Given the description of an element on the screen output the (x, y) to click on. 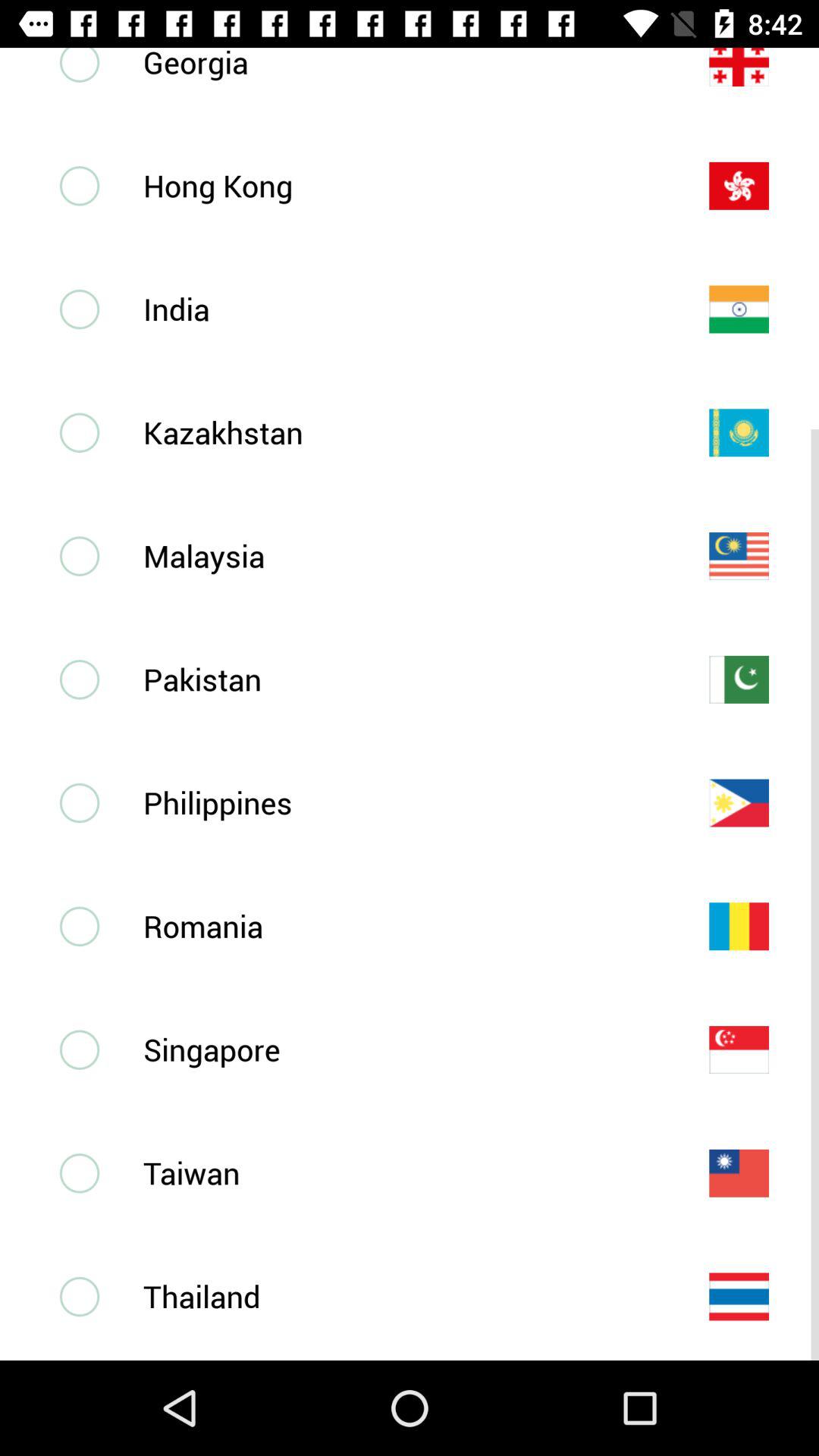
turn off singapore icon (401, 1049)
